Given the description of an element on the screen output the (x, y) to click on. 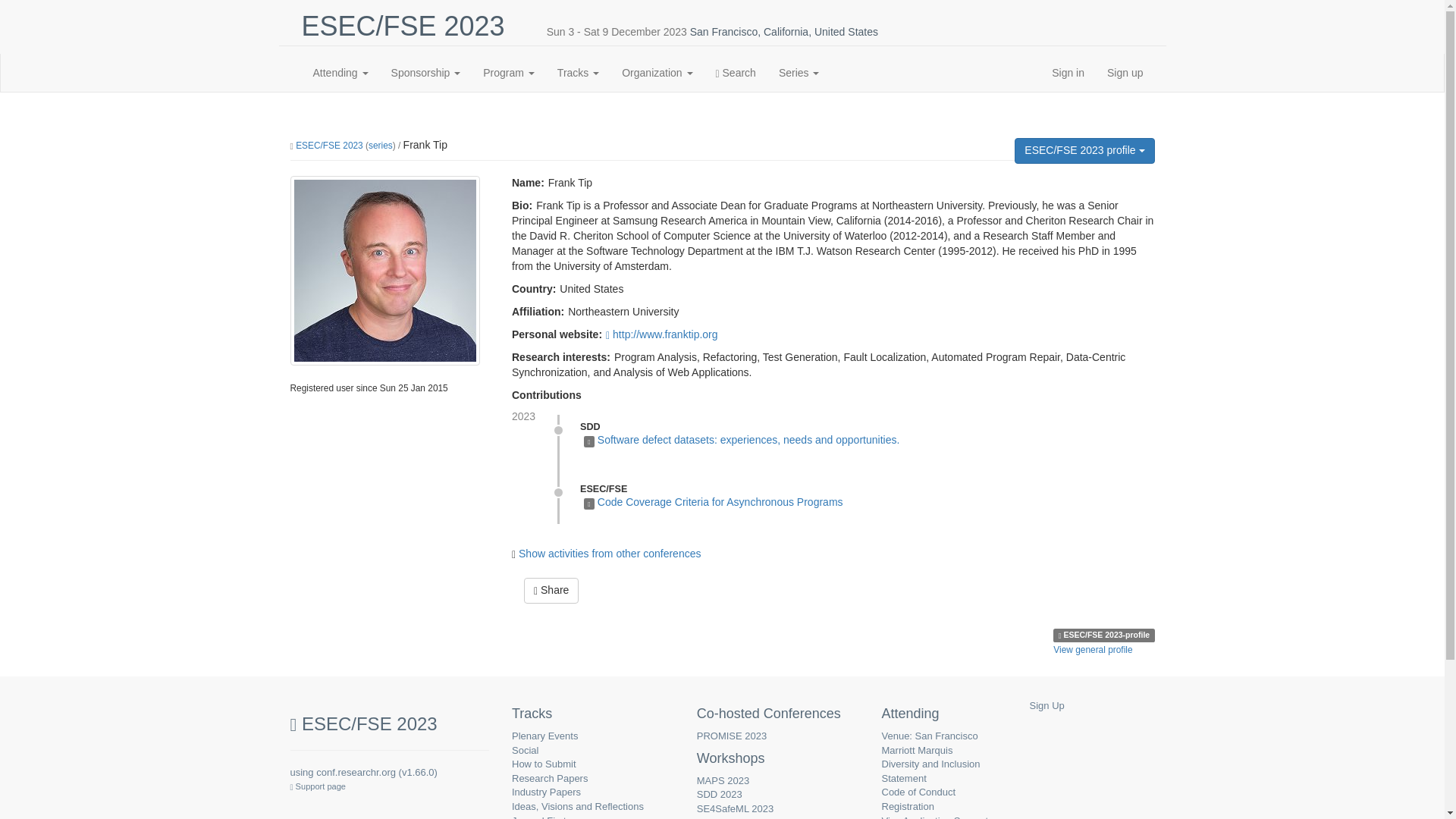
San Francisco, California, United States (783, 31)
Attending (340, 72)
Tracks (578, 72)
Program (508, 72)
Sponsorship (425, 72)
